Given the description of an element on the screen output the (x, y) to click on. 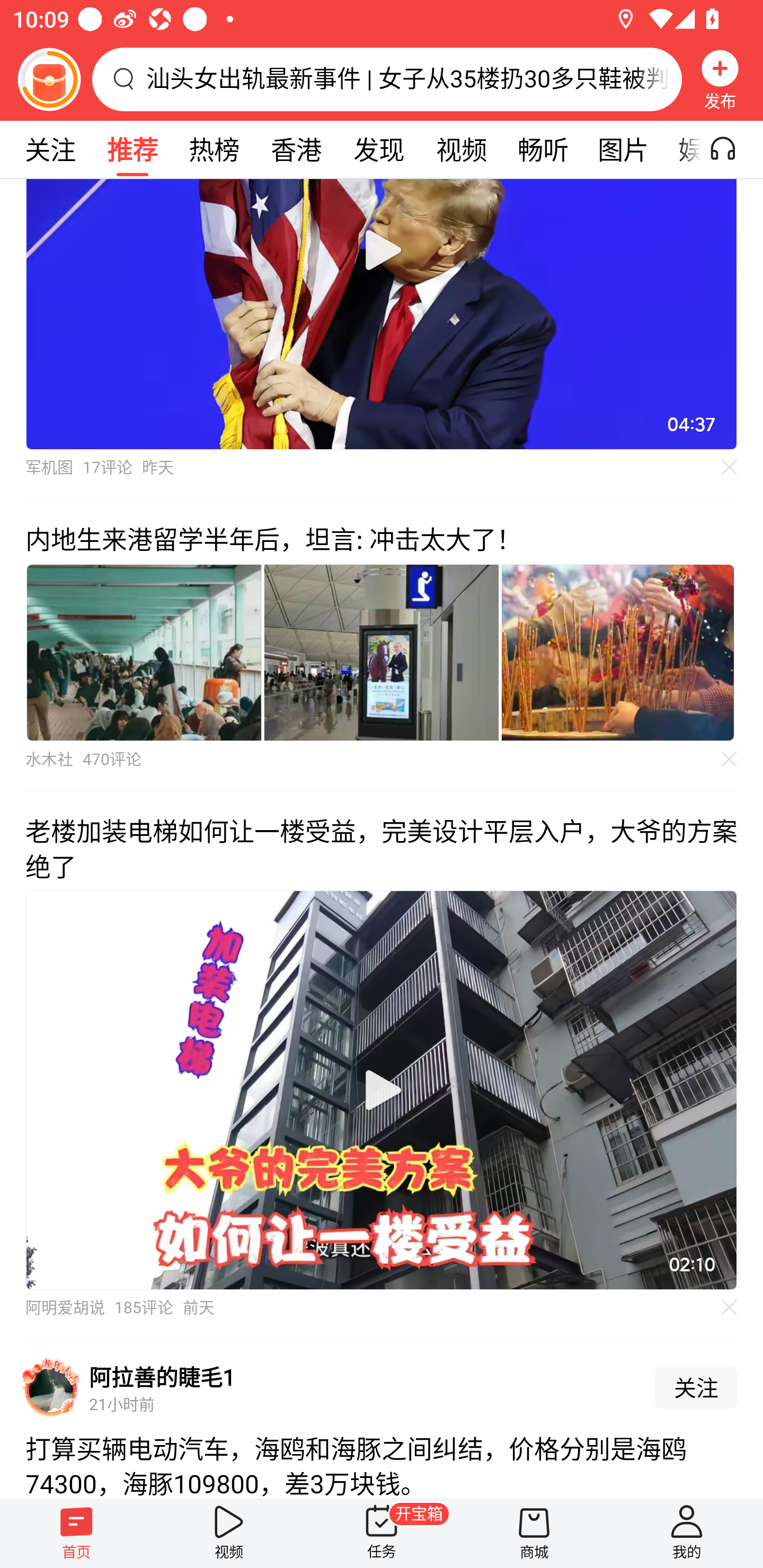
阅读赚金币 (48, 79)
发布 发布，按钮 (720, 78)
关注 (50, 149)
推荐 (132, 149)
热榜 (213, 149)
香港 (295, 149)
发现 (378, 149)
视频 (461, 149)
畅听 (542, 149)
图片 (623, 149)
听一听开关 (732, 149)
播放视频 视频播放器，双击屏幕打开播放控制 (381, 314)
播放视频 (381, 249)
不感兴趣 (729, 467)
内容图片 (143, 651)
内容图片 (381, 651)
内容图片 (617, 651)
不感兴趣 (729, 758)
播放视频 视频播放器，双击屏幕打开播放控制 (381, 1090)
播放视频 (381, 1090)
不感兴趣 (729, 1307)
阿拉善的睫毛1 (162, 1377)
阿拉善的睫毛1头像 (50, 1387)
关注 (695, 1387)
首页 (76, 1532)
视频 (228, 1532)
任务 开宝箱 (381, 1532)
商城 (533, 1532)
我的 (686, 1532)
